Given the description of an element on the screen output the (x, y) to click on. 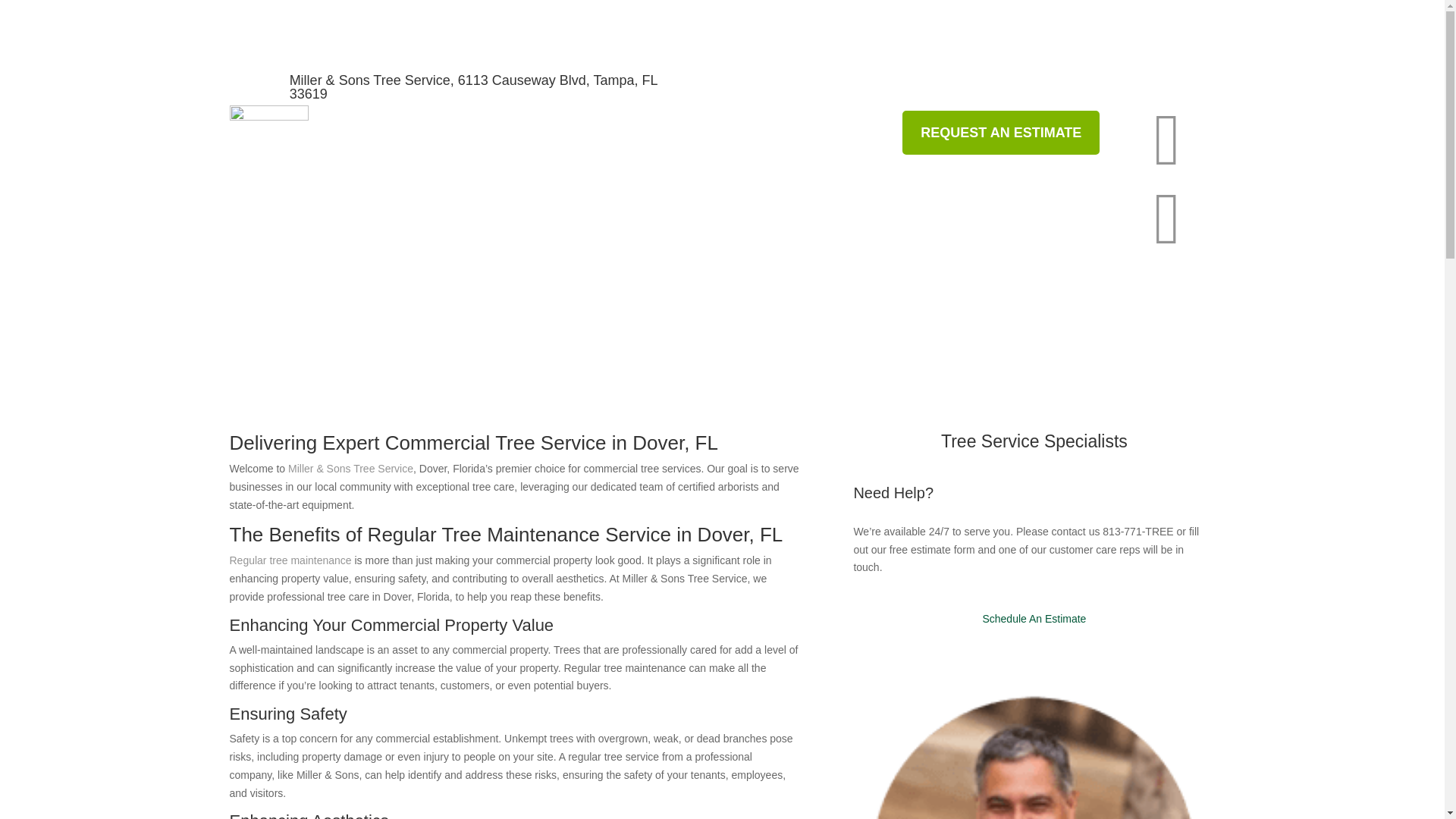
Company (855, 132)
Follow on LinkedIn (1172, 85)
Follow on Facebook (1111, 85)
Services (723, 132)
Follow on Instagram (1141, 85)
Schedule An Estimate (1033, 619)
Follow on X (1202, 85)
REQUEST AN ESTIMATE (1000, 132)
Regular tree maintenance (289, 560)
